Given the description of an element on the screen output the (x, y) to click on. 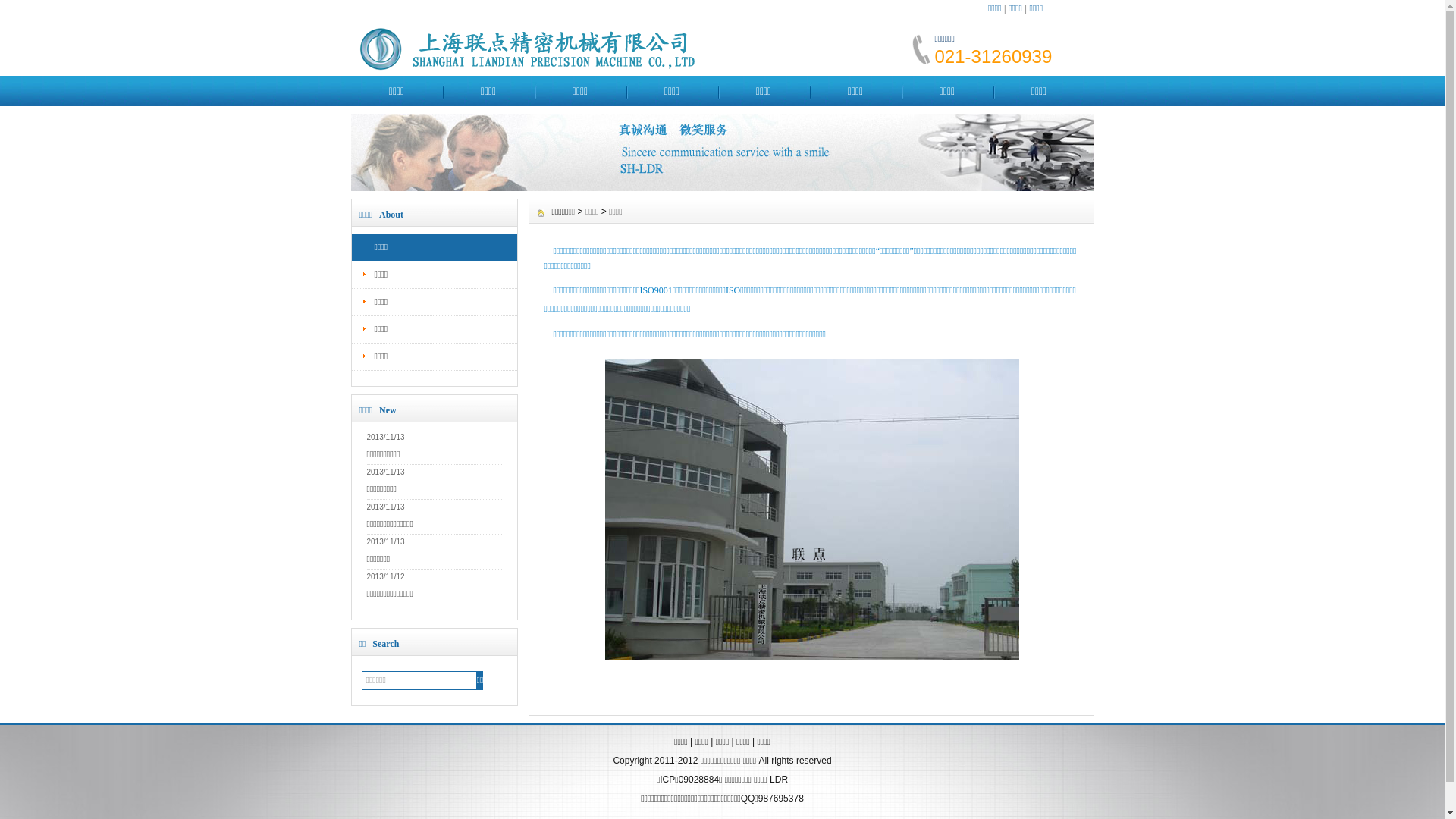
LDR Element type: text (778, 779)
